Given the description of an element on the screen output the (x, y) to click on. 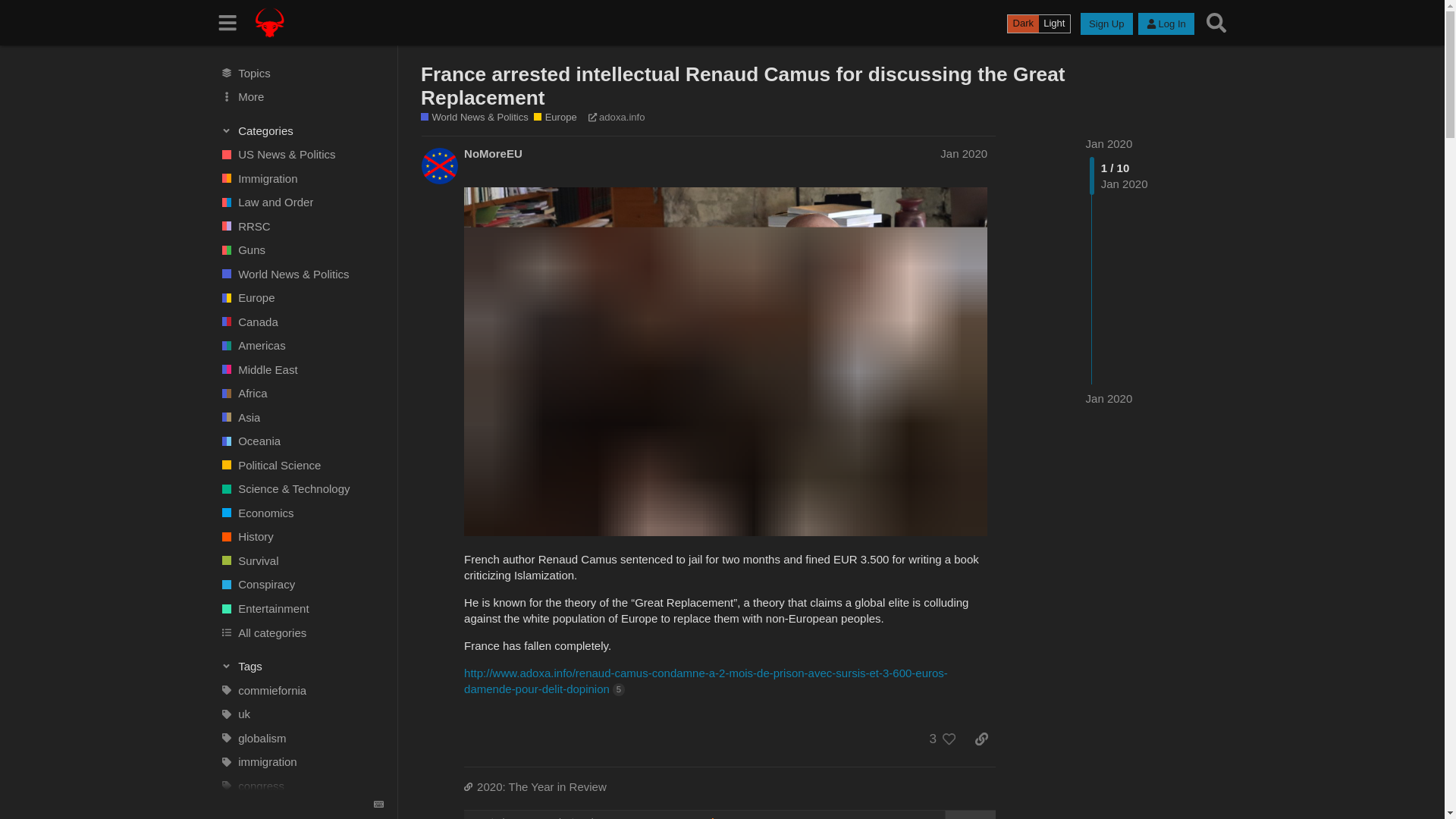
Europe (295, 297)
immigration (295, 761)
Oceania (295, 441)
Asia (295, 417)
Sign Up (1106, 24)
Americas (295, 345)
congress (295, 785)
Immigration (295, 178)
Middle East (295, 369)
RRSC (295, 225)
